Given the description of an element on the screen output the (x, y) to click on. 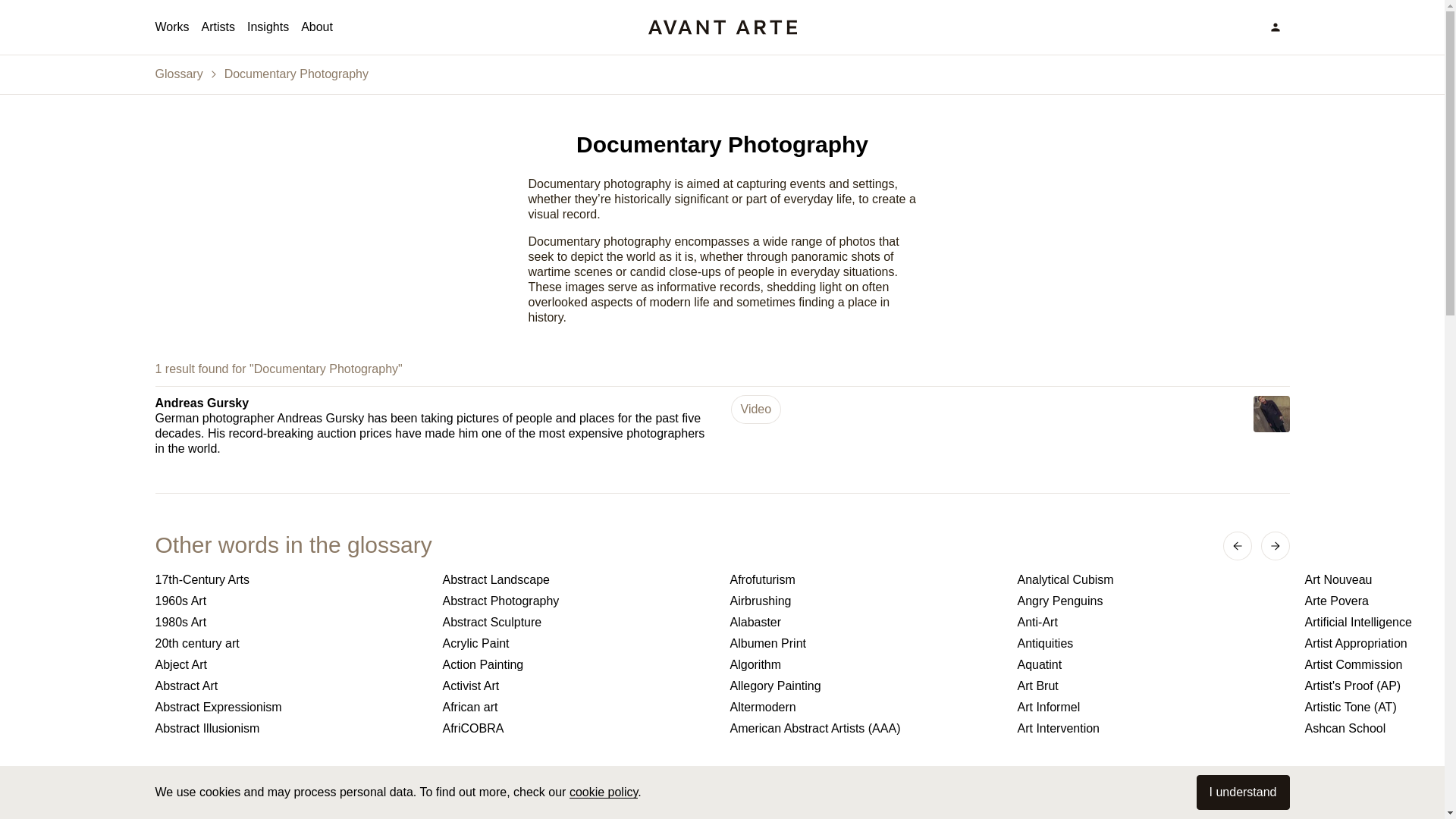
Glossary (178, 73)
Abstract Photography (578, 601)
Alabaster (865, 622)
20th century art (290, 643)
Abstract Sculpture (578, 622)
Insights (267, 27)
Acrylic Paint (578, 643)
17th-Century Arts (290, 580)
Altermodern (865, 707)
Abstract Illusionism (290, 728)
Works (171, 27)
About (317, 27)
Action Painting (578, 664)
Algorithm (865, 664)
Albumen Print (865, 643)
